Given the description of an element on the screen output the (x, y) to click on. 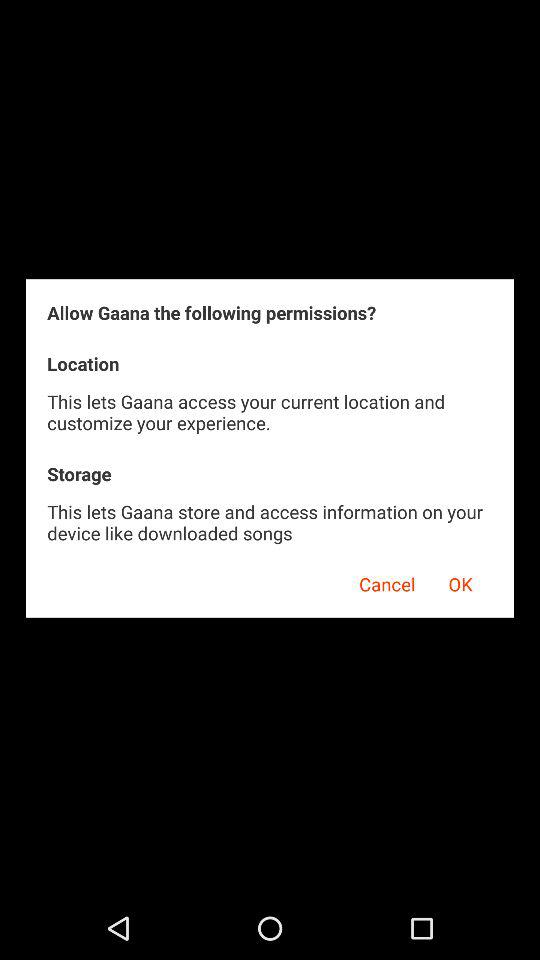
launch item to the left of ok item (380, 581)
